Given the description of an element on the screen output the (x, y) to click on. 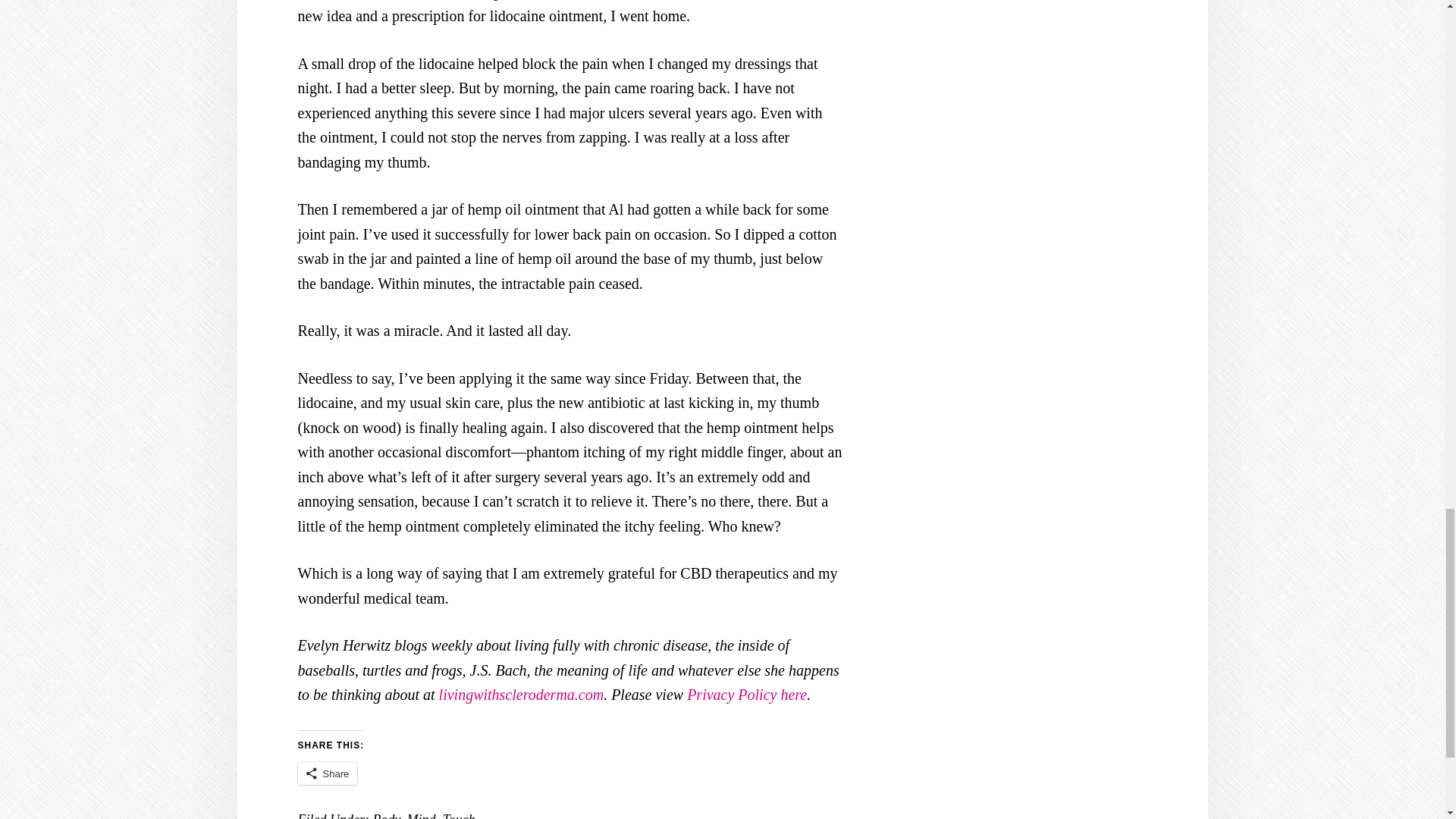
livingwithscleroderma.com (521, 694)
Privacy Policy here (746, 694)
Touch (458, 815)
Share (326, 773)
Body (385, 815)
Mind (420, 815)
